Given the description of an element on the screen output the (x, y) to click on. 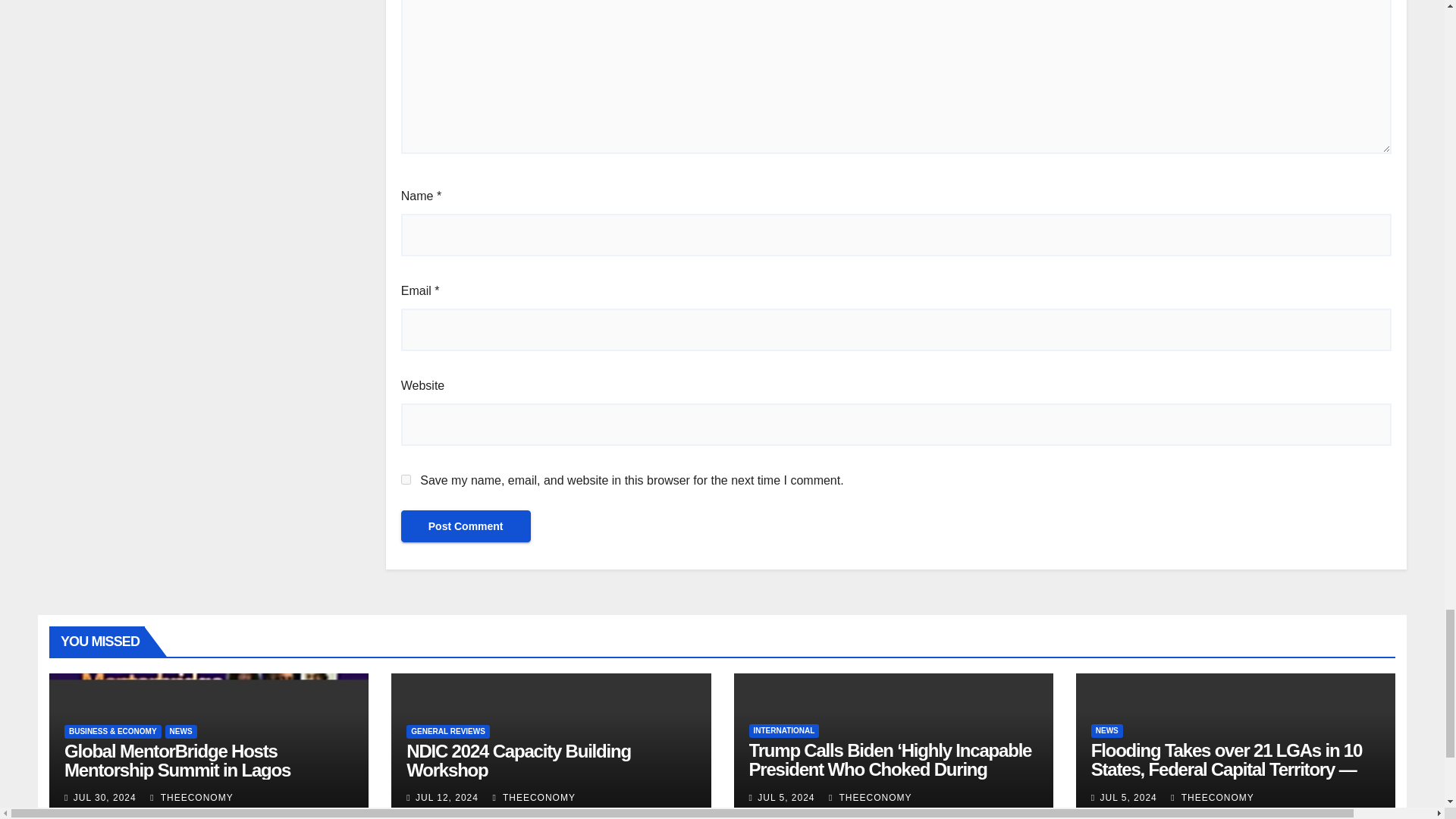
Post Comment (466, 526)
yes (405, 479)
